Given the description of an element on the screen output the (x, y) to click on. 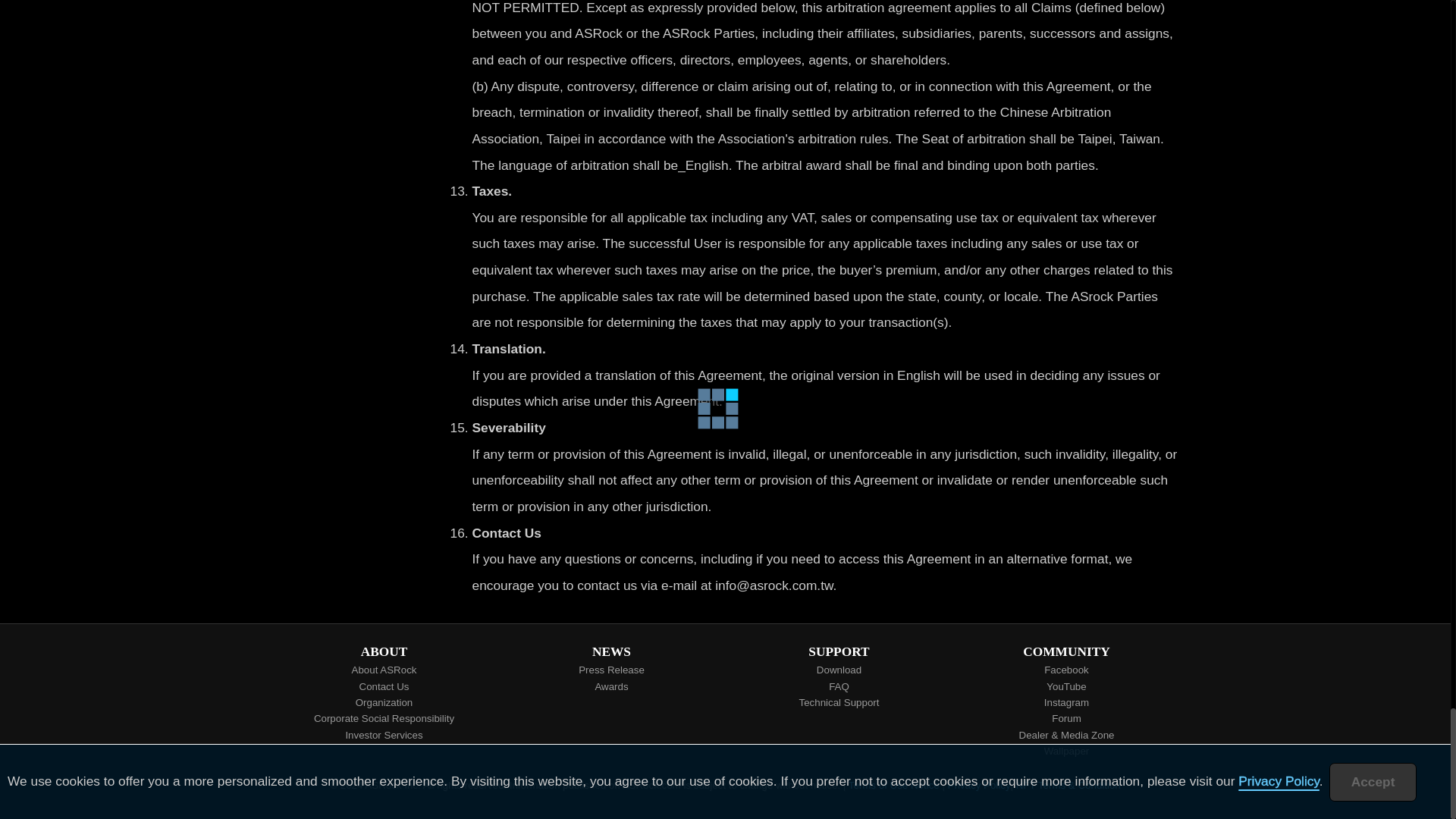
About ASRock (383, 669)
Investor Services (383, 734)
FAQ (838, 686)
Press Release (611, 669)
YouTube (1065, 686)
Instagram (1065, 702)
Contact Us (383, 686)
Download (838, 669)
Technical Support (838, 702)
Awards (611, 686)
